Given the description of an element on the screen output the (x, y) to click on. 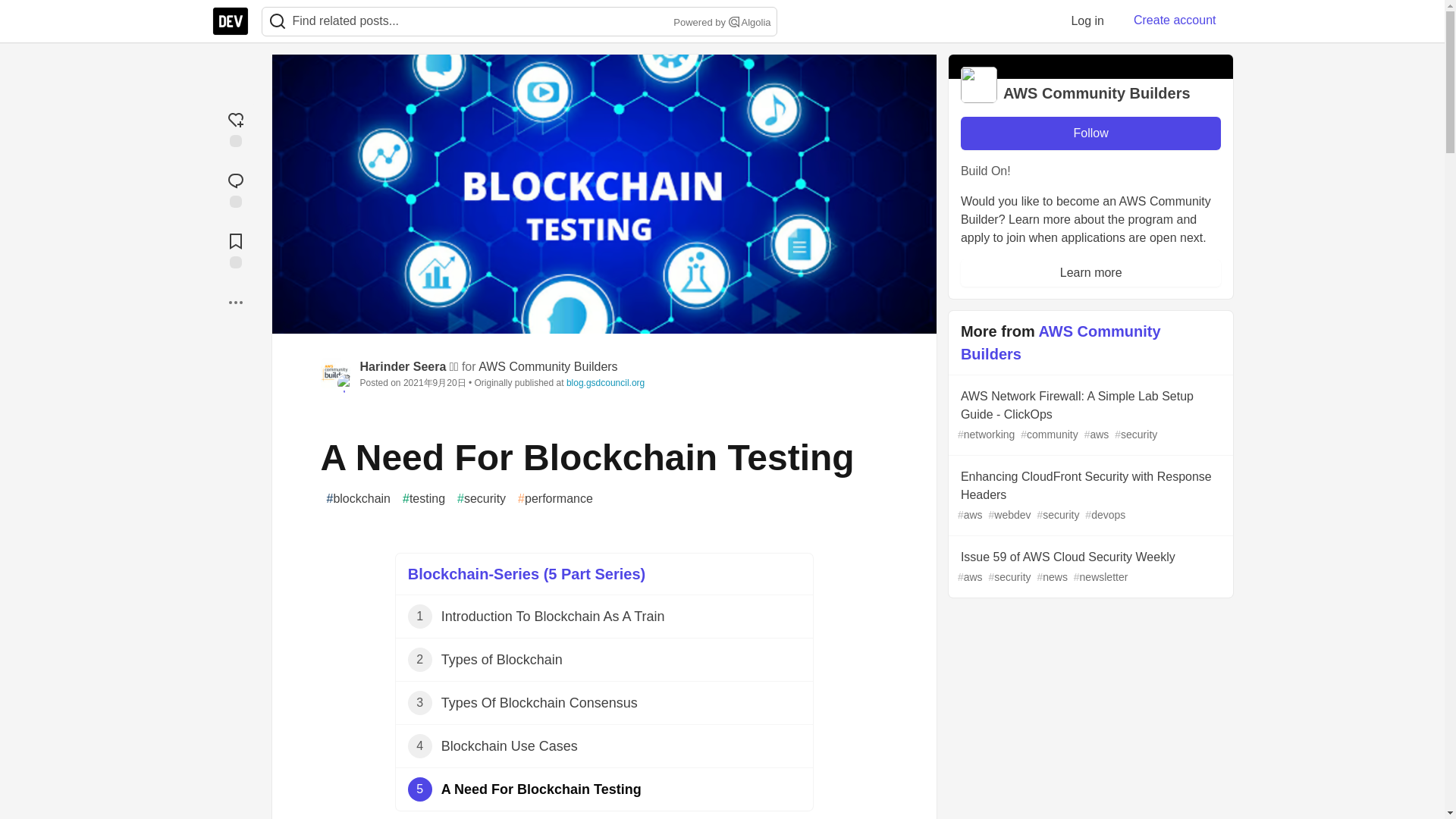
AWS Community Builders (548, 366)
Log in (1087, 20)
More... (234, 302)
Published Aug 9 '21 (604, 616)
Create account (1174, 20)
Powered by Search Algolia (604, 702)
Search (720, 22)
Search (277, 21)
